Given the description of an element on the screen output the (x, y) to click on. 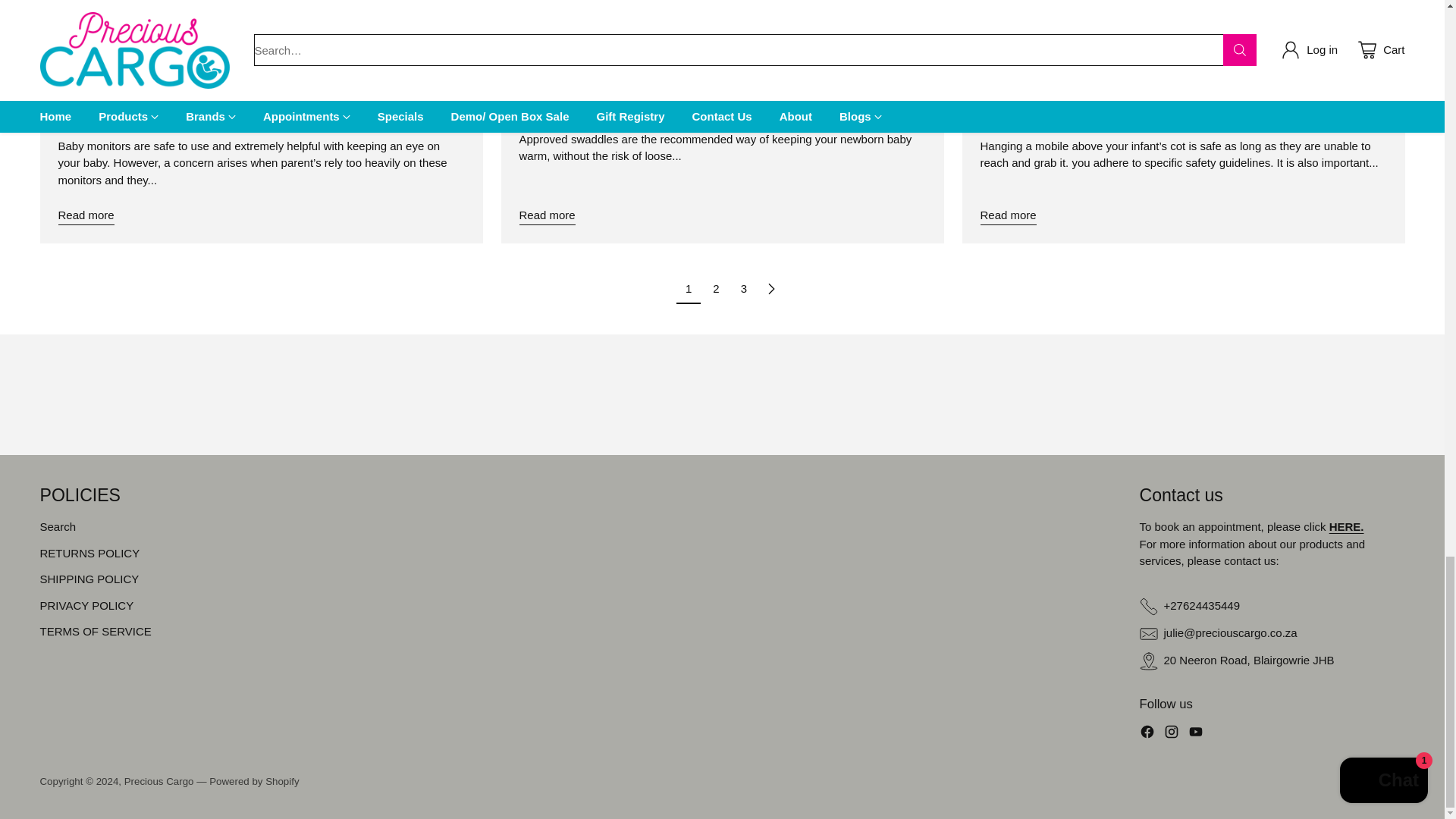
Precious Cargo on YouTube (1195, 734)
Precious Cargo on Facebook (1146, 734)
Precious Cargo on Instagram (1170, 734)
